Given the description of an element on the screen output the (x, y) to click on. 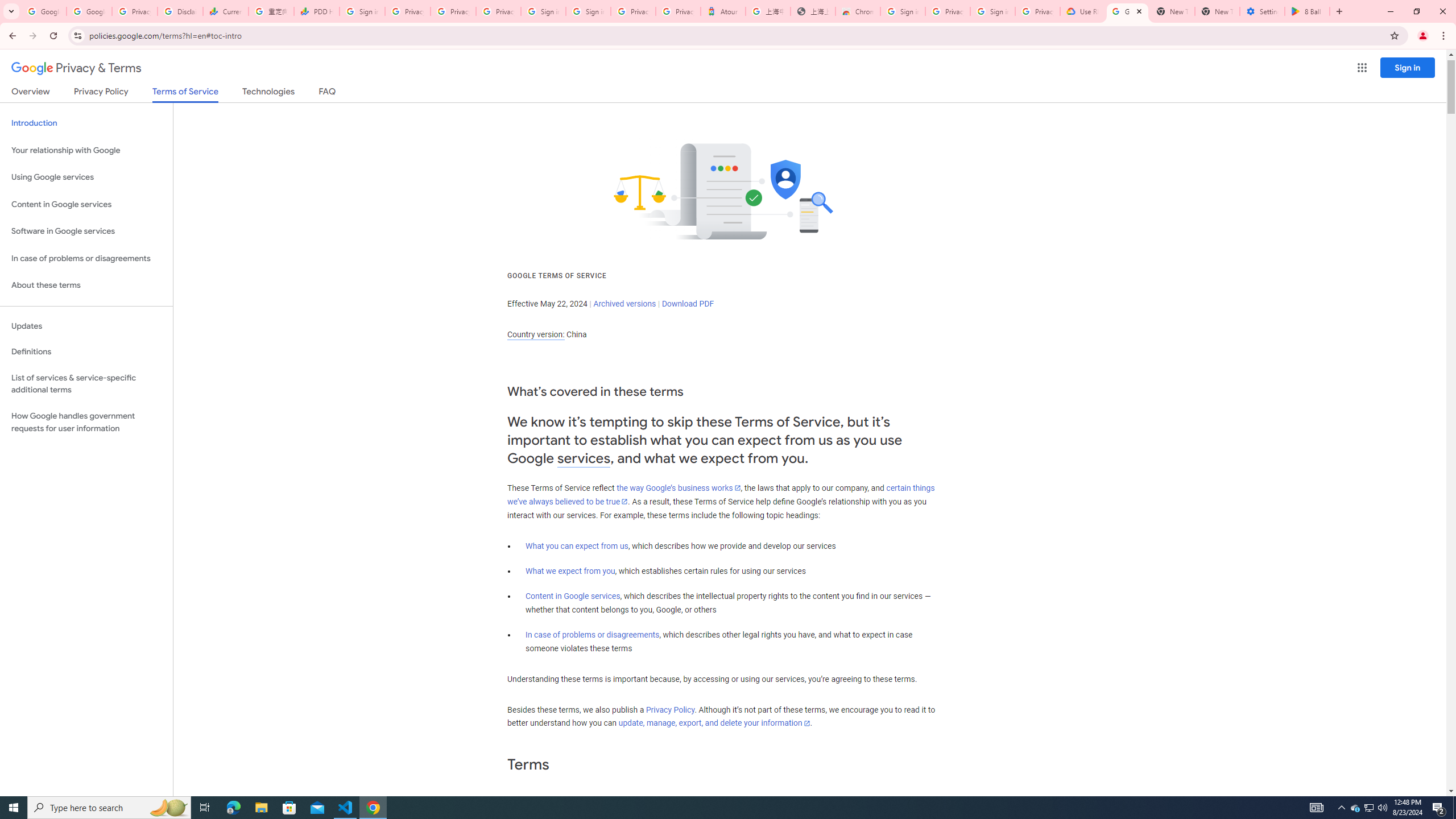
Google Workspace Admin Community (43, 11)
8 Ball Pool - Apps on Google Play (1307, 11)
New Tab (1216, 11)
Sign in - Google Accounts (542, 11)
update, manage, export, and delete your information (714, 723)
